Given the description of an element on the screen output the (x, y) to click on. 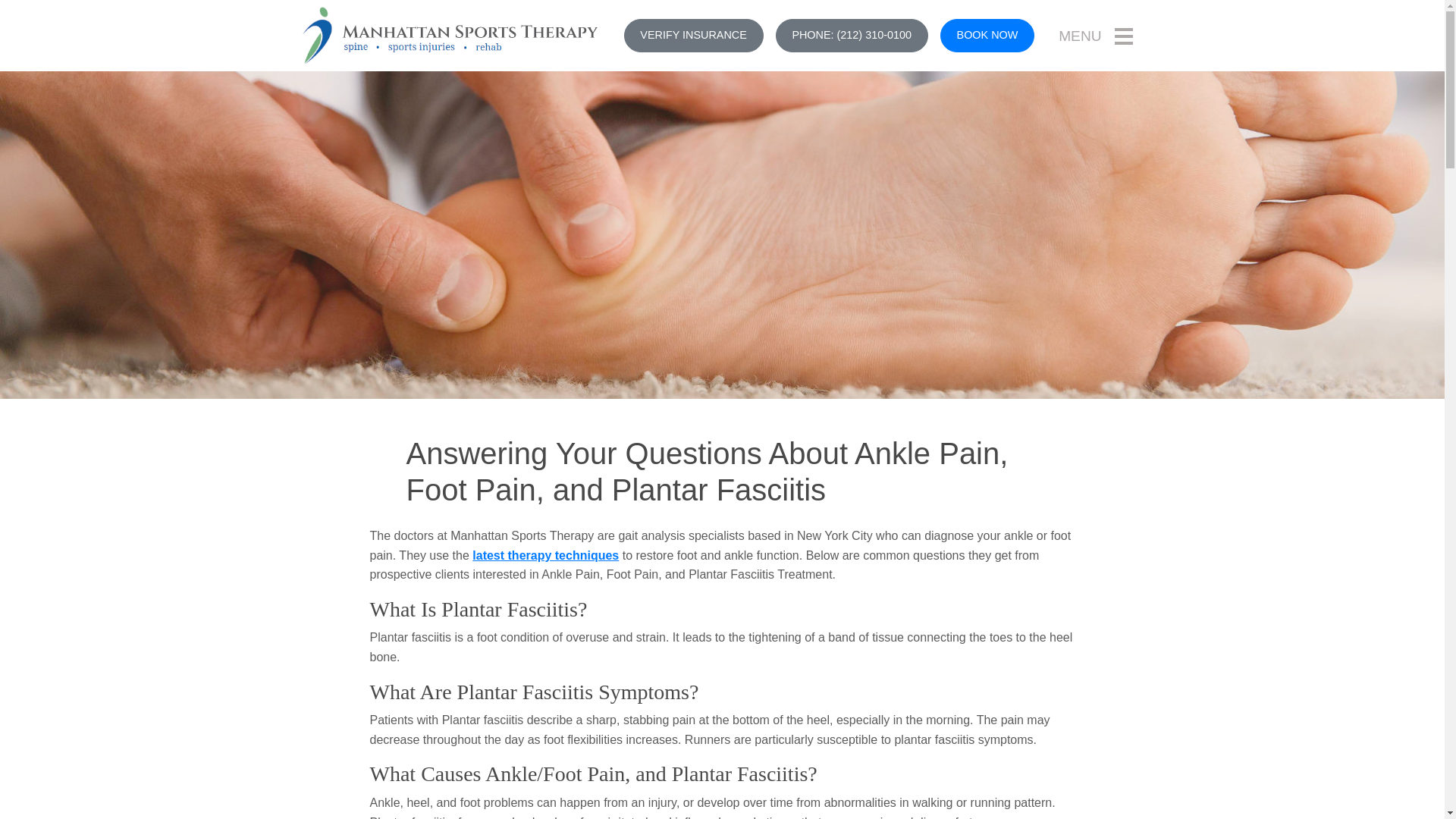
latest therapy techniques (544, 554)
BOOK NOW (986, 35)
SKIP TO MAIN CONTENT (16, 8)
VERIFY INSURANCE (692, 35)
MENU (1095, 35)
